Given the description of an element on the screen output the (x, y) to click on. 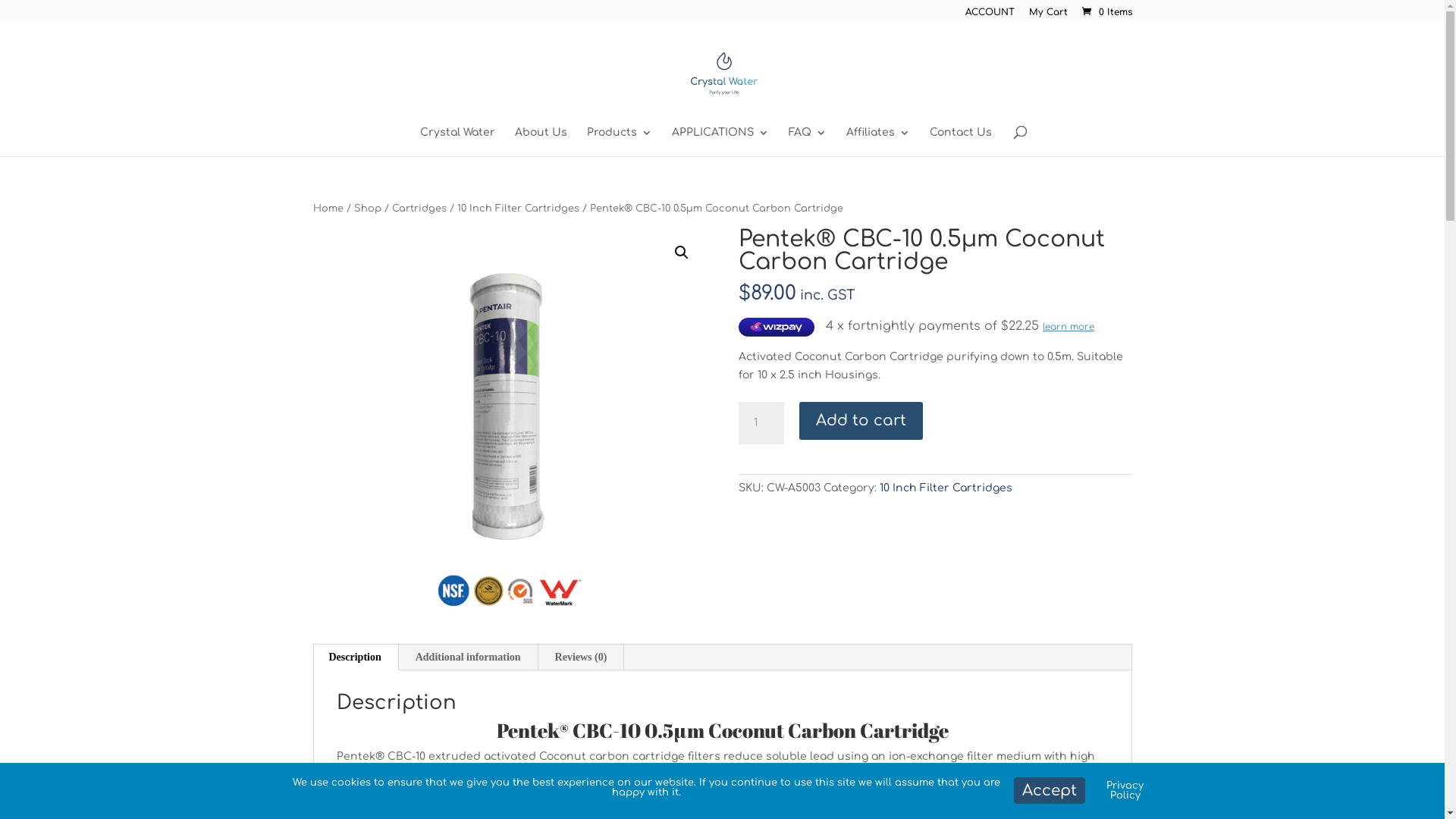
Accept Element type: text (1049, 790)
Contact Us Element type: text (960, 141)
Affiliates Element type: text (878, 141)
FAQ Element type: text (807, 141)
Description Element type: text (355, 657)
ACCOUNT Element type: text (988, 15)
learn more Element type: text (1068, 326)
cw-a5003 Element type: hover (508, 424)
About Us Element type: text (540, 141)
10 Inch Filter Cartridges Element type: text (945, 487)
Home Element type: text (327, 208)
Additional information Element type: text (467, 657)
Reviews (0) Element type: text (581, 657)
Shop Element type: text (366, 208)
10 Inch Filter Cartridges Element type: text (517, 208)
APPLICATIONS Element type: text (719, 141)
Add to cart Element type: text (860, 420)
Privacy Policy Element type: text (1124, 790)
Cartridges Element type: text (418, 208)
0 Items Element type: text (1104, 11)
Crystal Water Element type: text (457, 141)
My Cart Element type: text (1047, 15)
Products Element type: text (619, 141)
